Given the description of an element on the screen output the (x, y) to click on. 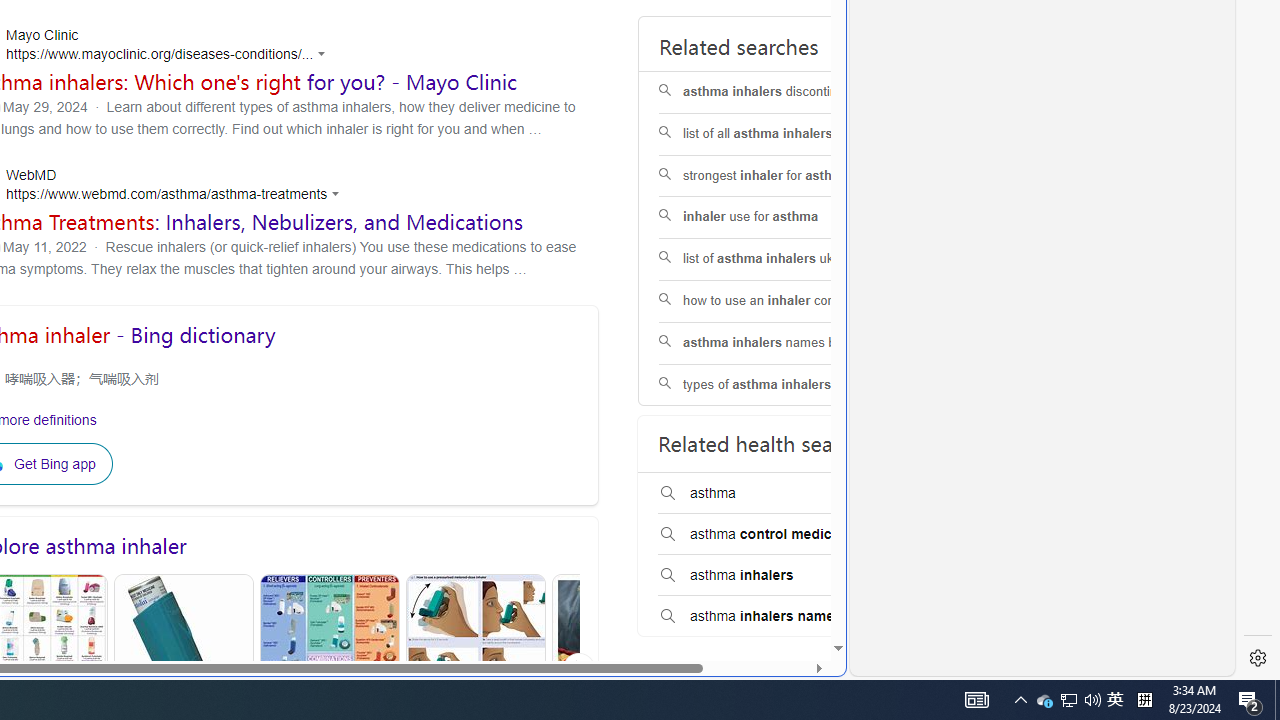
list of all asthma inhalers (785, 134)
types of asthma inhalers pictures (785, 385)
asthma inhalers (785, 575)
asthma inhalers discontinued (785, 92)
asthma inhalers names (785, 616)
types of asthma inhalers pictures (785, 385)
inhaler use for asthma (785, 218)
how to use an inhaler correctly (785, 300)
Search more (792, 588)
inhaler use for asthma (785, 218)
strongest inhaler for asthma (785, 175)
list of all asthma inhalers (785, 133)
asthma control medicine (785, 534)
how to use an inhaler correctly (785, 301)
